Given the description of an element on the screen output the (x, y) to click on. 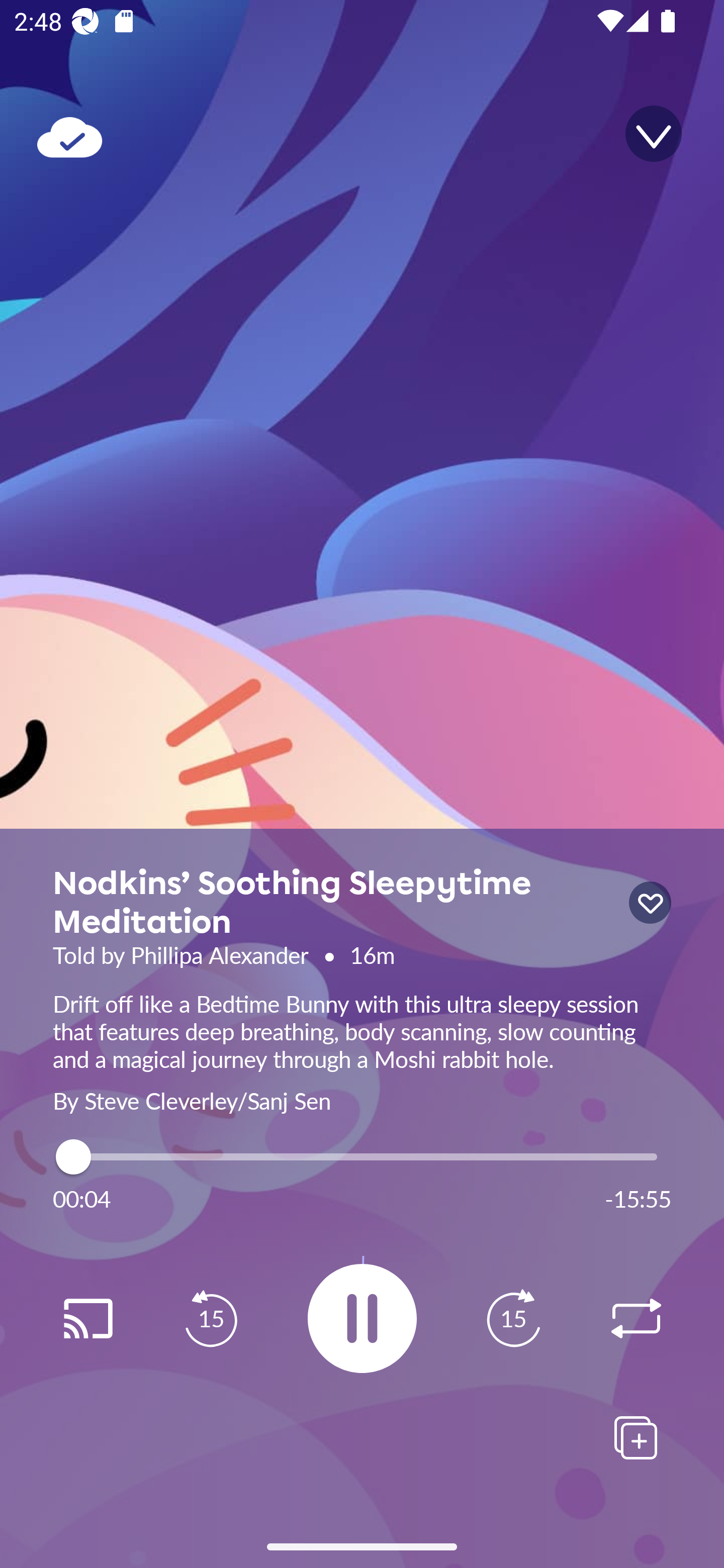
lock icon (650, 902)
0.005077083 Pause (361, 1317)
Replay (87, 1318)
Replay 15 (210, 1318)
Replay 15 (513, 1318)
Replay (635, 1318)
Add To Playlists (635, 1437)
